Given the description of an element on the screen output the (x, y) to click on. 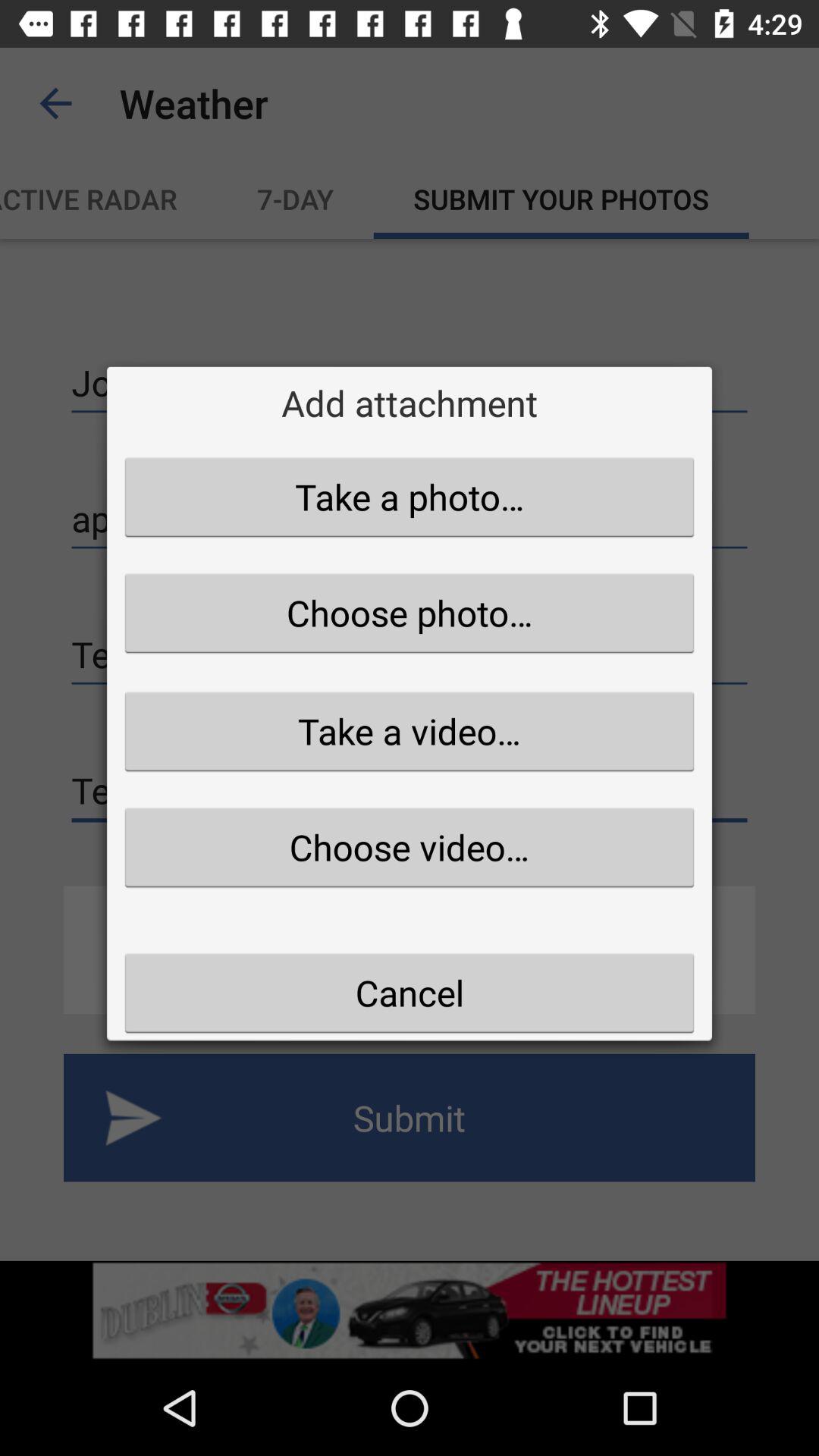
launch icon above the cancel item (409, 847)
